Given the description of an element on the screen output the (x, y) to click on. 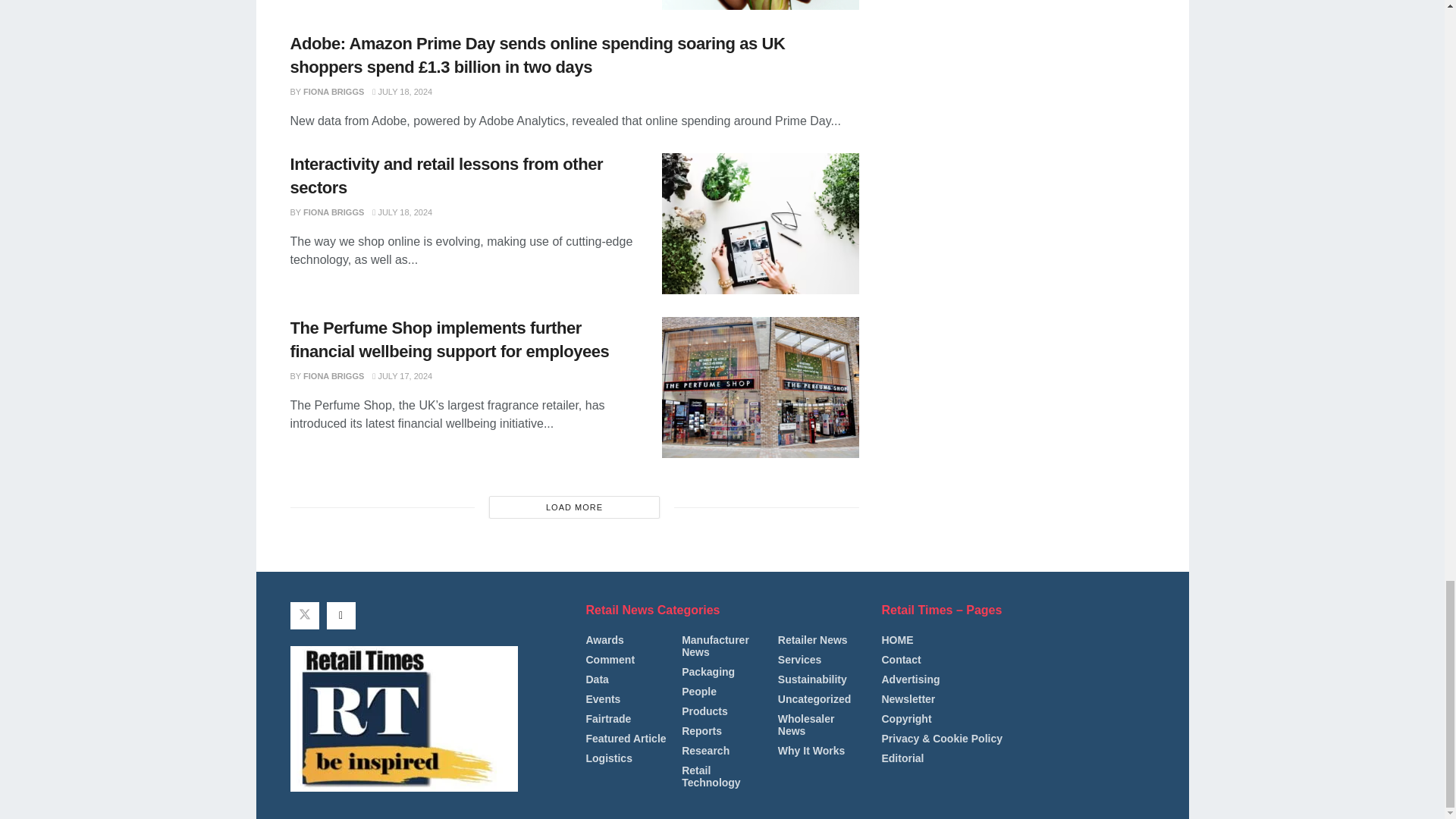
Retail Times (402, 718)
